Given the description of an element on the screen output the (x, y) to click on. 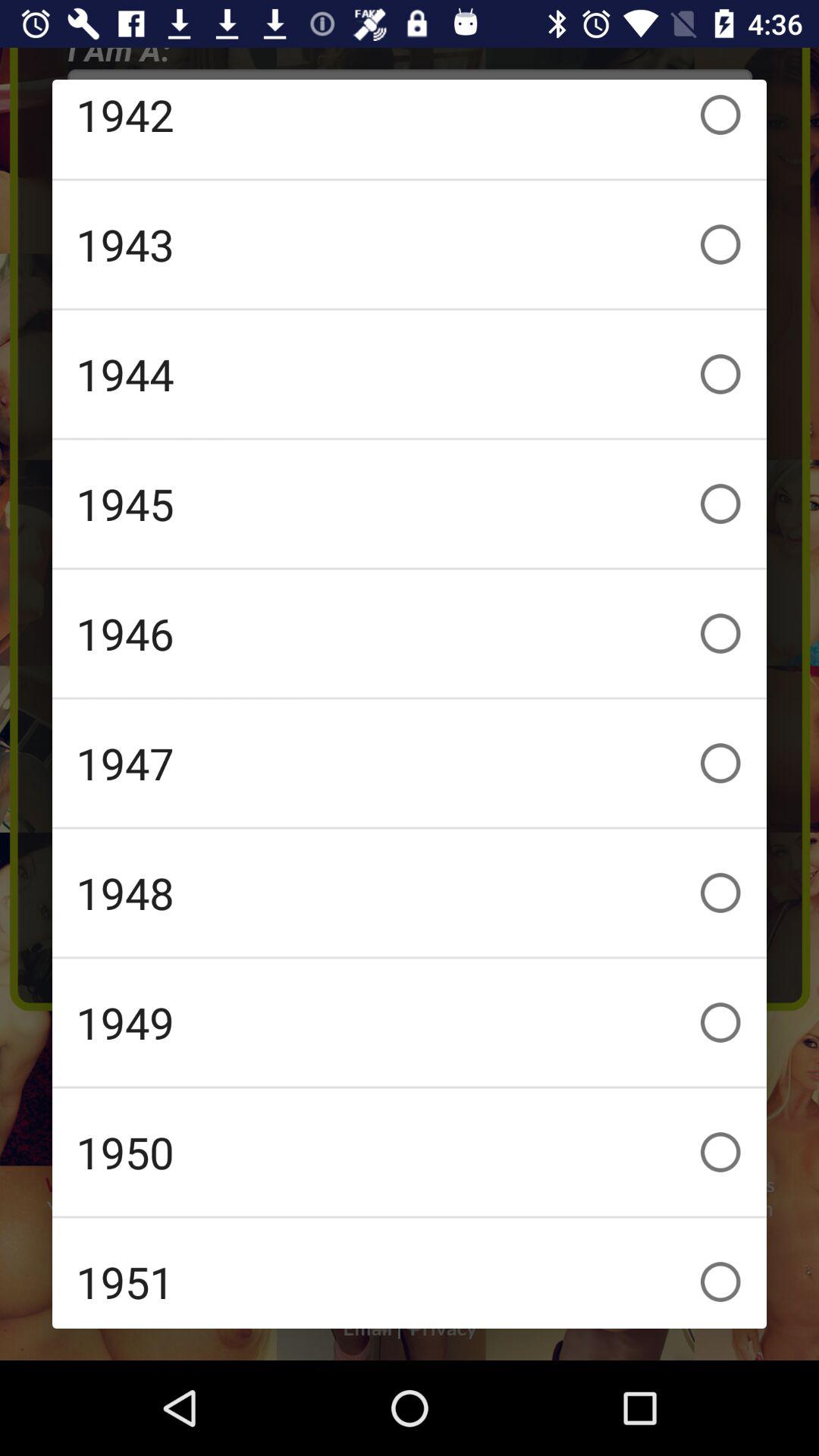
turn on the item below the 1947 icon (409, 892)
